Given the description of an element on the screen output the (x, y) to click on. 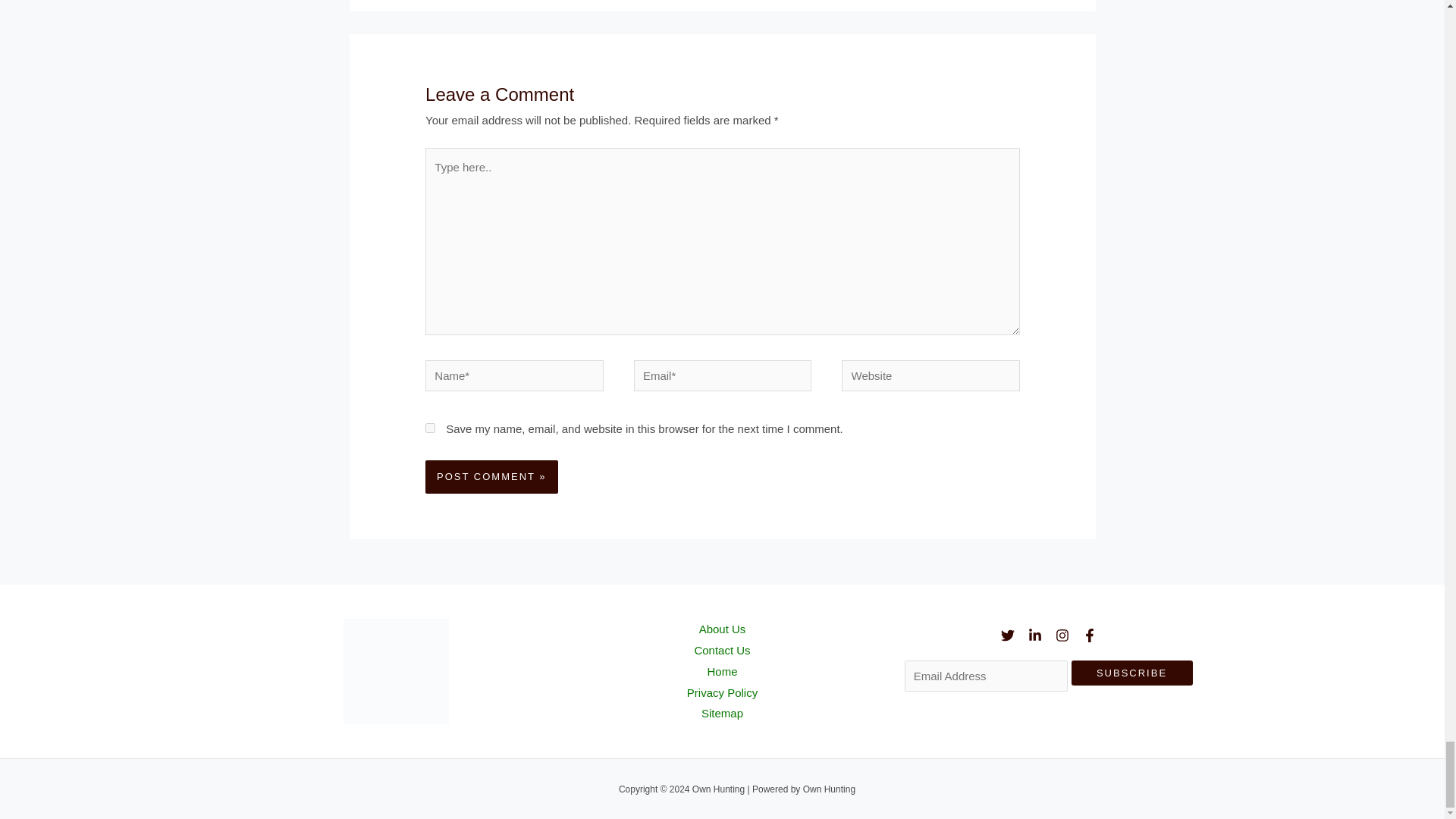
yes (430, 429)
